Given the description of an element on the screen output the (x, y) to click on. 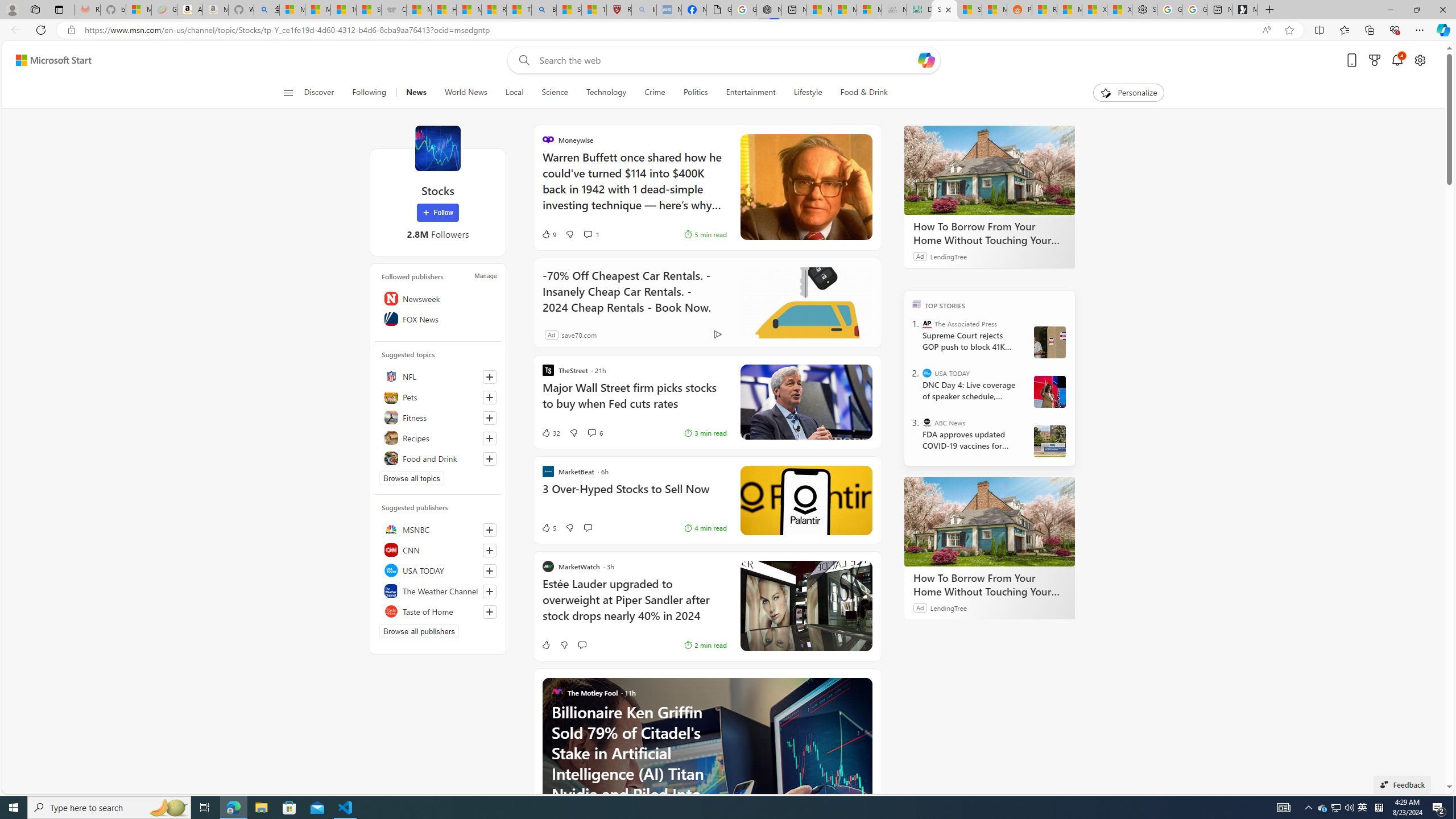
ABC News (927, 422)
Combat Siege (393, 9)
Browse all publishers (419, 631)
